Given the description of an element on the screen output the (x, y) to click on. 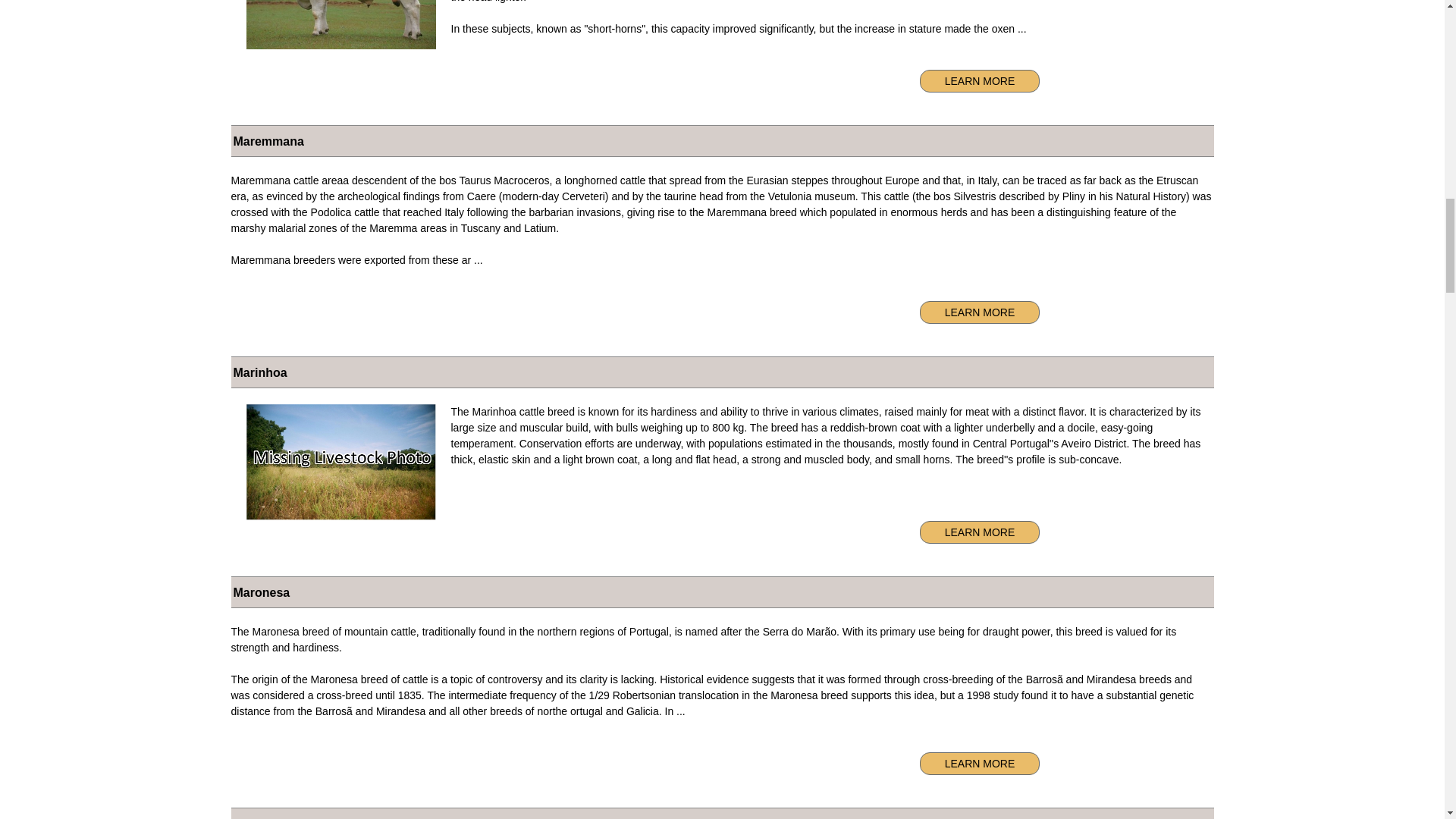
LEARN MORE (980, 312)
LEARN MORE (980, 531)
LEARN MORE (980, 763)
LEARN MORE (980, 80)
